Given the description of an element on the screen output the (x, y) to click on. 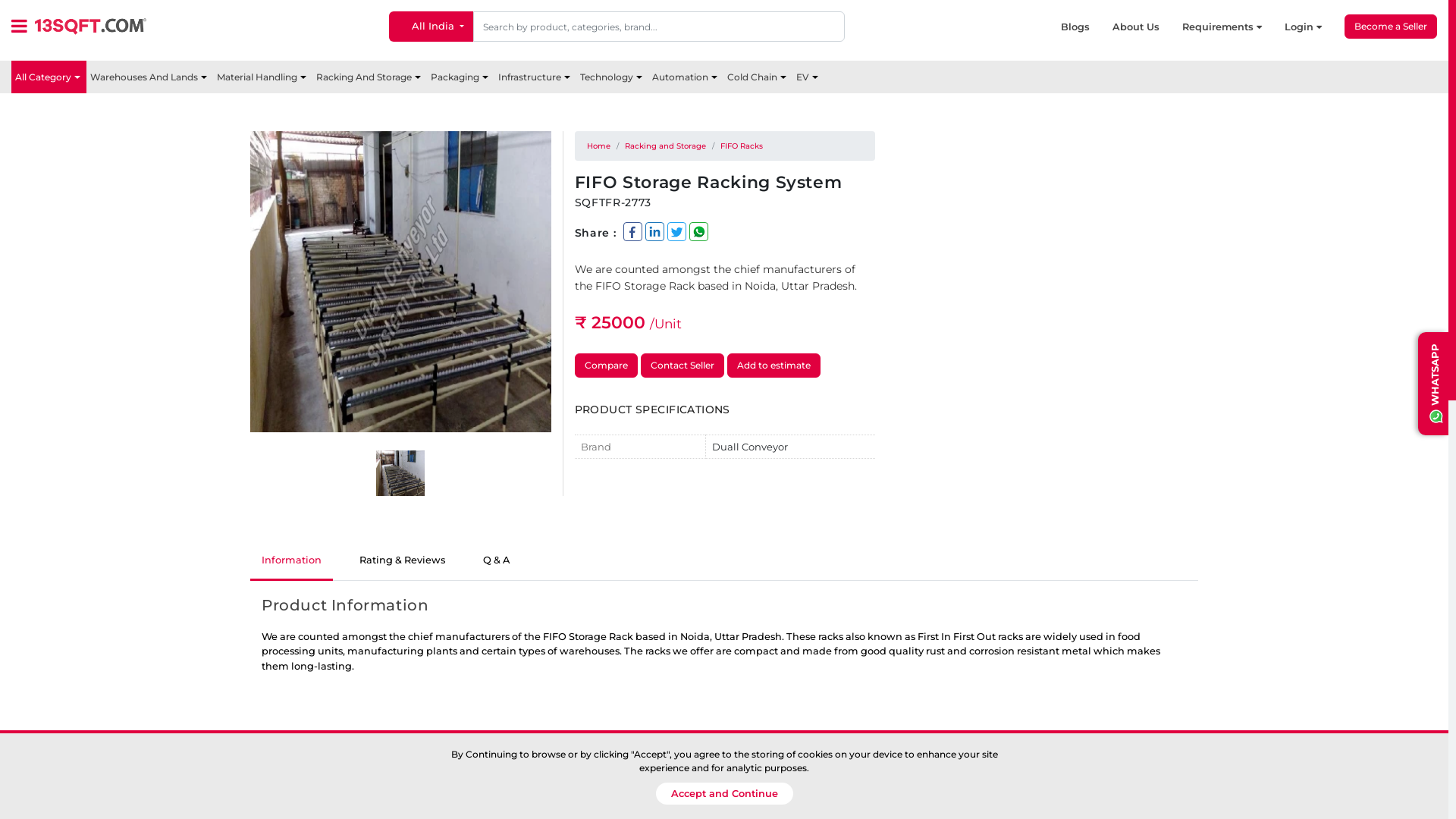
Automation Element type: text (685, 76)
Accept and Continue Element type: text (723, 793)
All India
  Element type: text (431, 26)
Rating & Reviews Element type: text (402, 560)
Packaging Element type: text (460, 76)
Become a Seller Element type: text (1390, 26)
Add to estimate Element type: text (773, 365)
Technology Element type: text (612, 76)
FIFO Racks Element type: text (741, 145)
Racking And Storage Element type: text (369, 76)
EV Element type: text (808, 76)
Home Element type: text (598, 145)
All Category Element type: text (48, 76)
Warehouses And Lands Element type: text (149, 76)
Information Element type: text (291, 560)
Compare Element type: text (605, 365)
Blogs Element type: text (1086, 26)
About Us Element type: text (1147, 26)
Material Handling Element type: text (262, 76)
Requirements Element type: text (1233, 26)
Q & A Element type: text (495, 560)
Contact Seller Element type: text (682, 365)
Cold Chain Element type: text (757, 76)
Infrastructure Element type: text (535, 76)
Racking and Storage Element type: text (665, 145)
Login Element type: text (1314, 26)
